Given the description of an element on the screen output the (x, y) to click on. 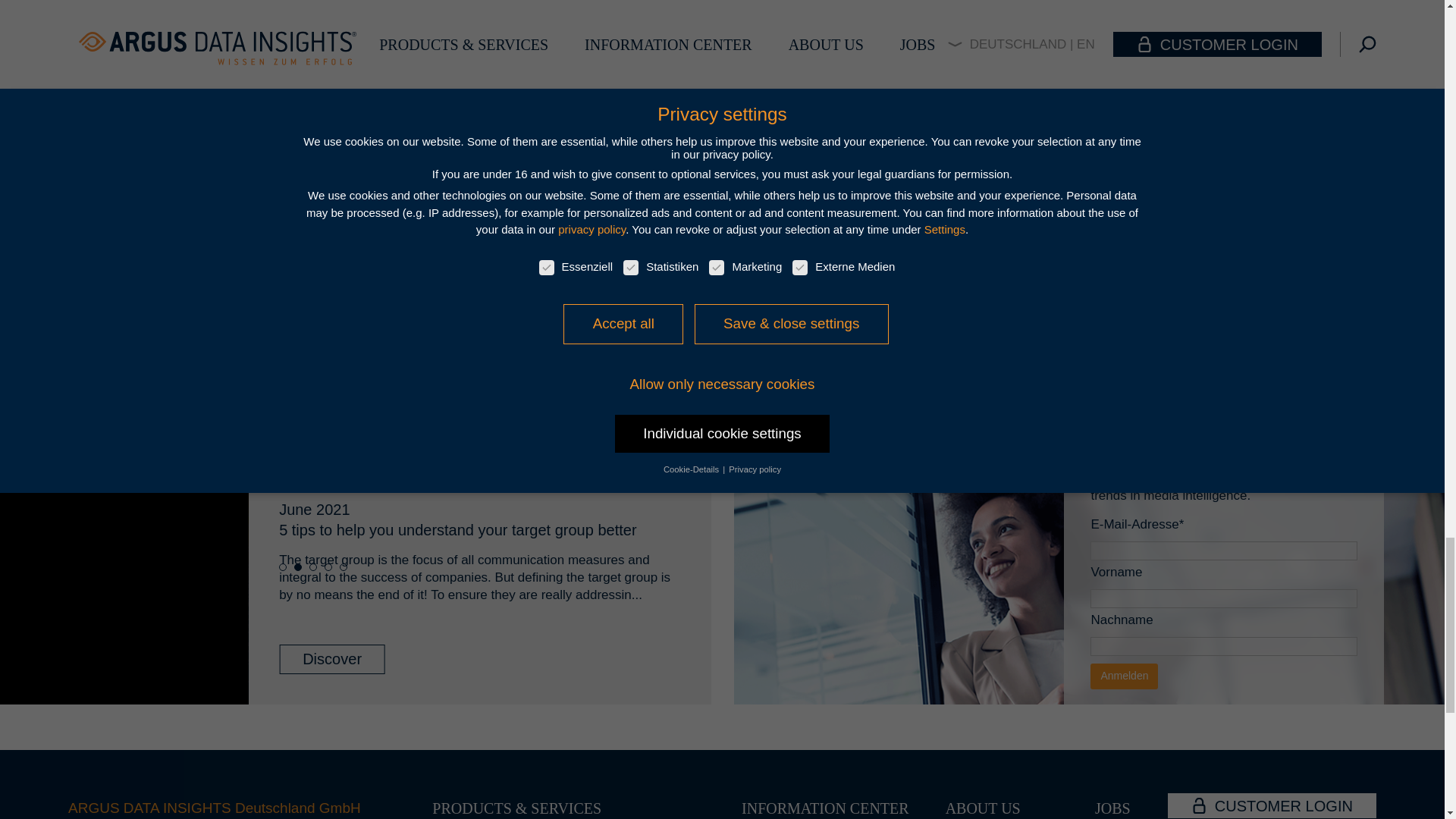
Go to service overview (801, 304)
Discover (721, 22)
Contact sales (610, 304)
Discover (332, 659)
Anmelden (1123, 676)
Discover (721, 21)
Anmelden (1123, 676)
